Given the description of an element on the screen output the (x, y) to click on. 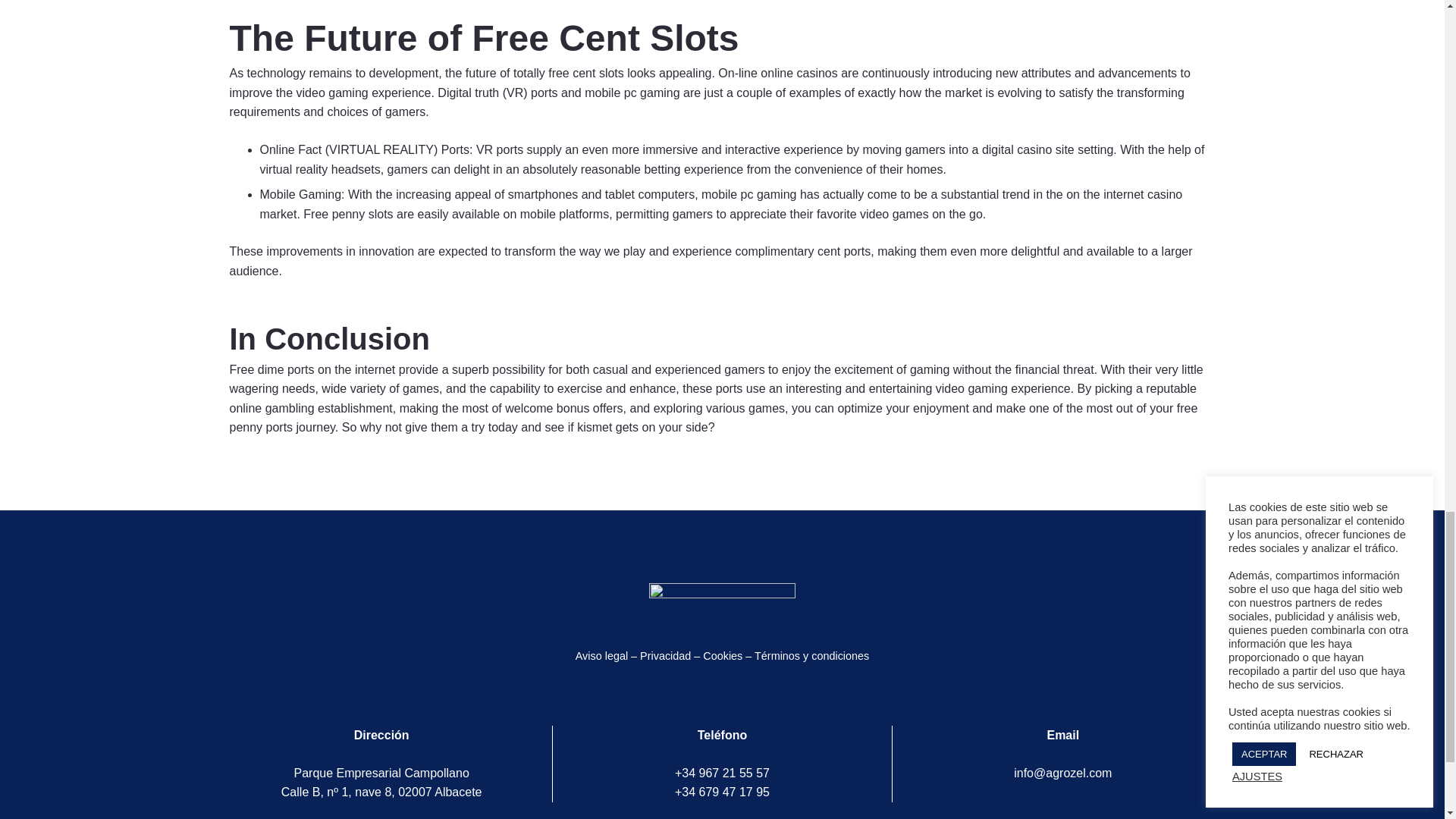
Aviso legal (601, 655)
Cookies (722, 655)
Privacidad (665, 655)
